Given the description of an element on the screen output the (x, y) to click on. 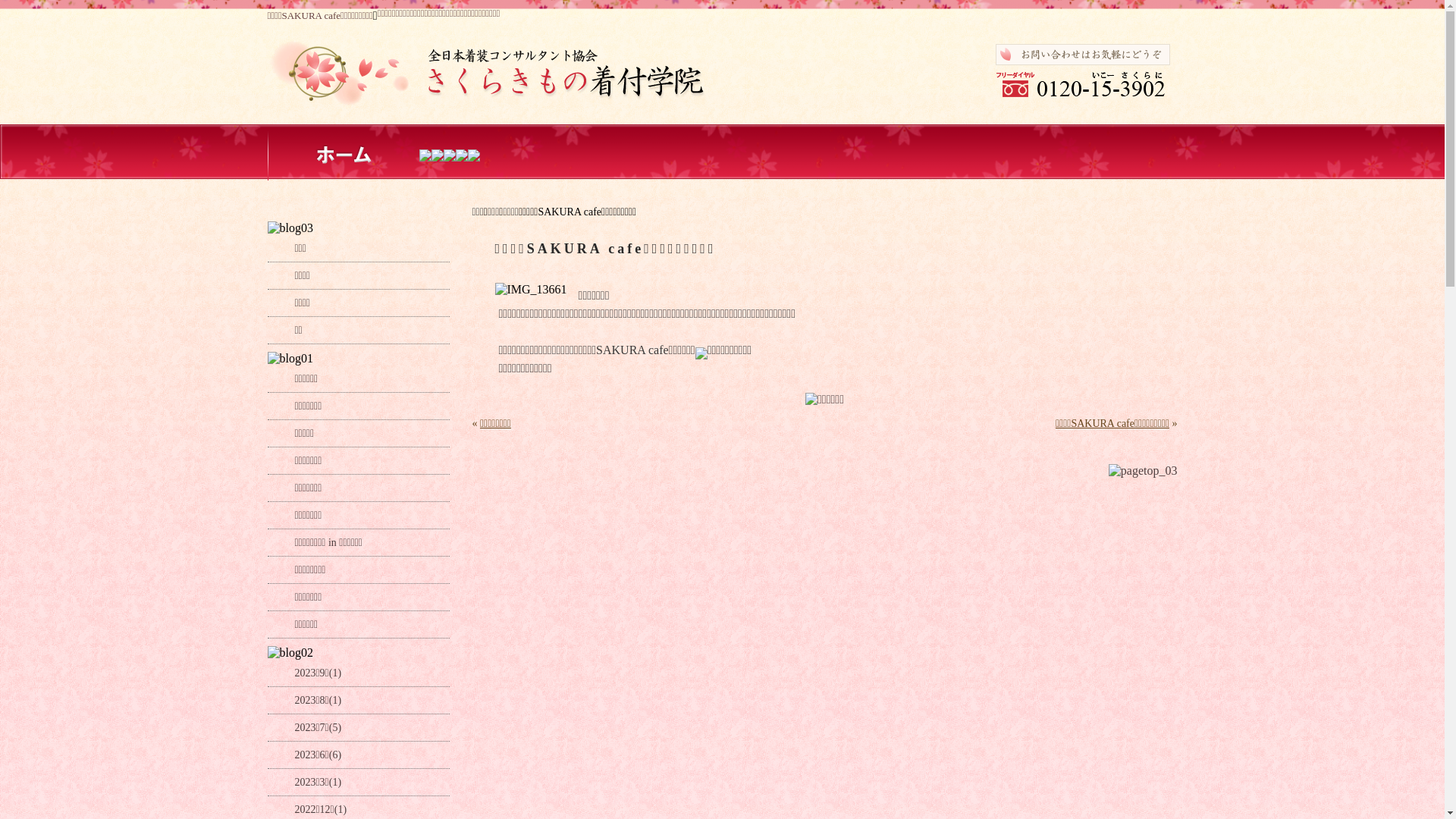
blog01 Element type: hover (289, 358)
sakura_top2_03 Element type: hover (721, 74)
pagetop_03 Element type: hover (1142, 470)
IMG_1366[1] Element type: hover (530, 289)
blog02 Element type: hover (289, 652)
